Given the description of an element on the screen output the (x, y) to click on. 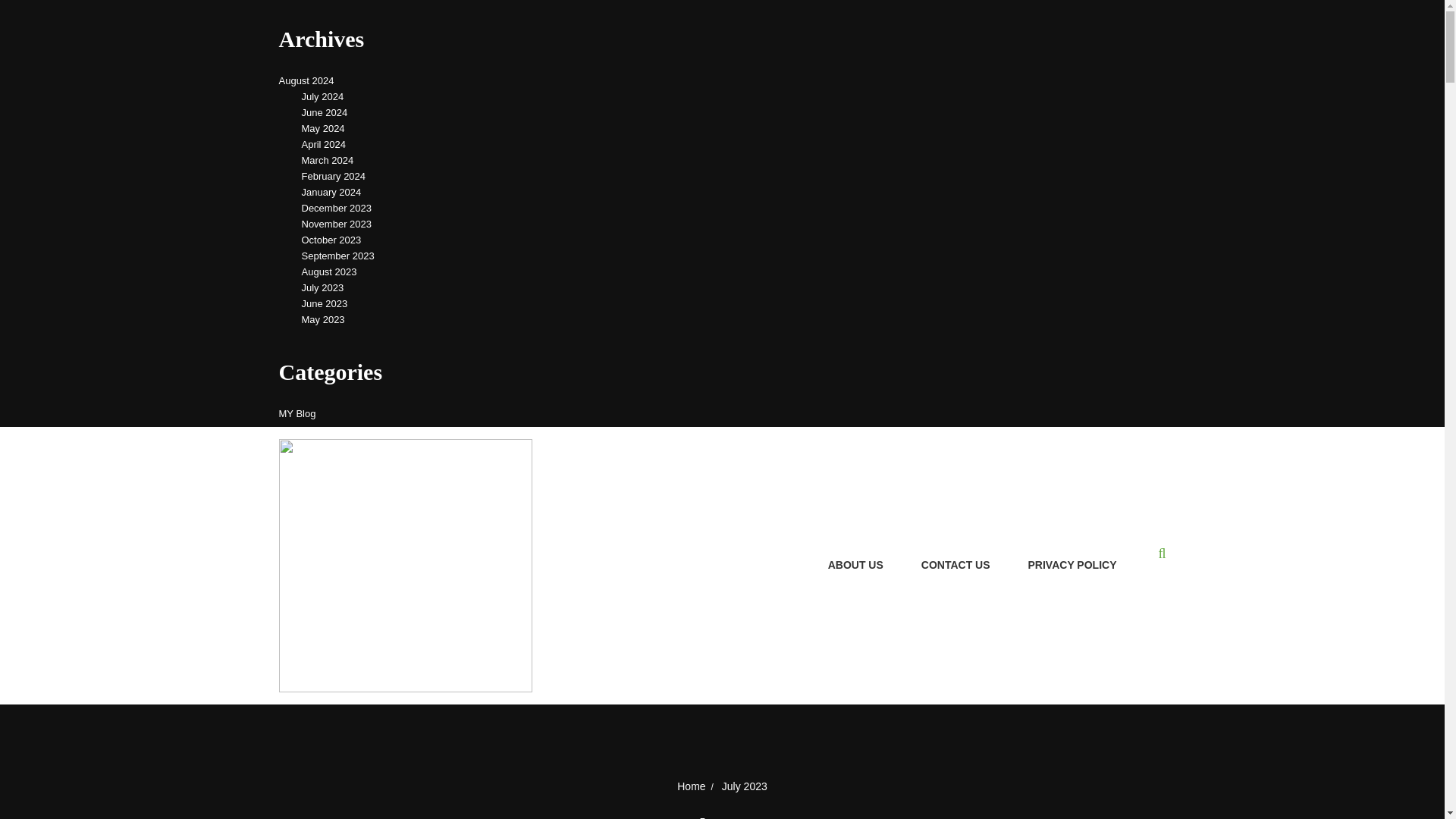
July 2024 (322, 96)
August 2024 (306, 80)
January 2024 (331, 191)
June 2024 (324, 112)
Home (690, 786)
March 2024 (327, 159)
May 2024 (323, 128)
December 2023 (336, 208)
ABOUT US (855, 565)
CONTACT US (955, 565)
